Given the description of an element on the screen output the (x, y) to click on. 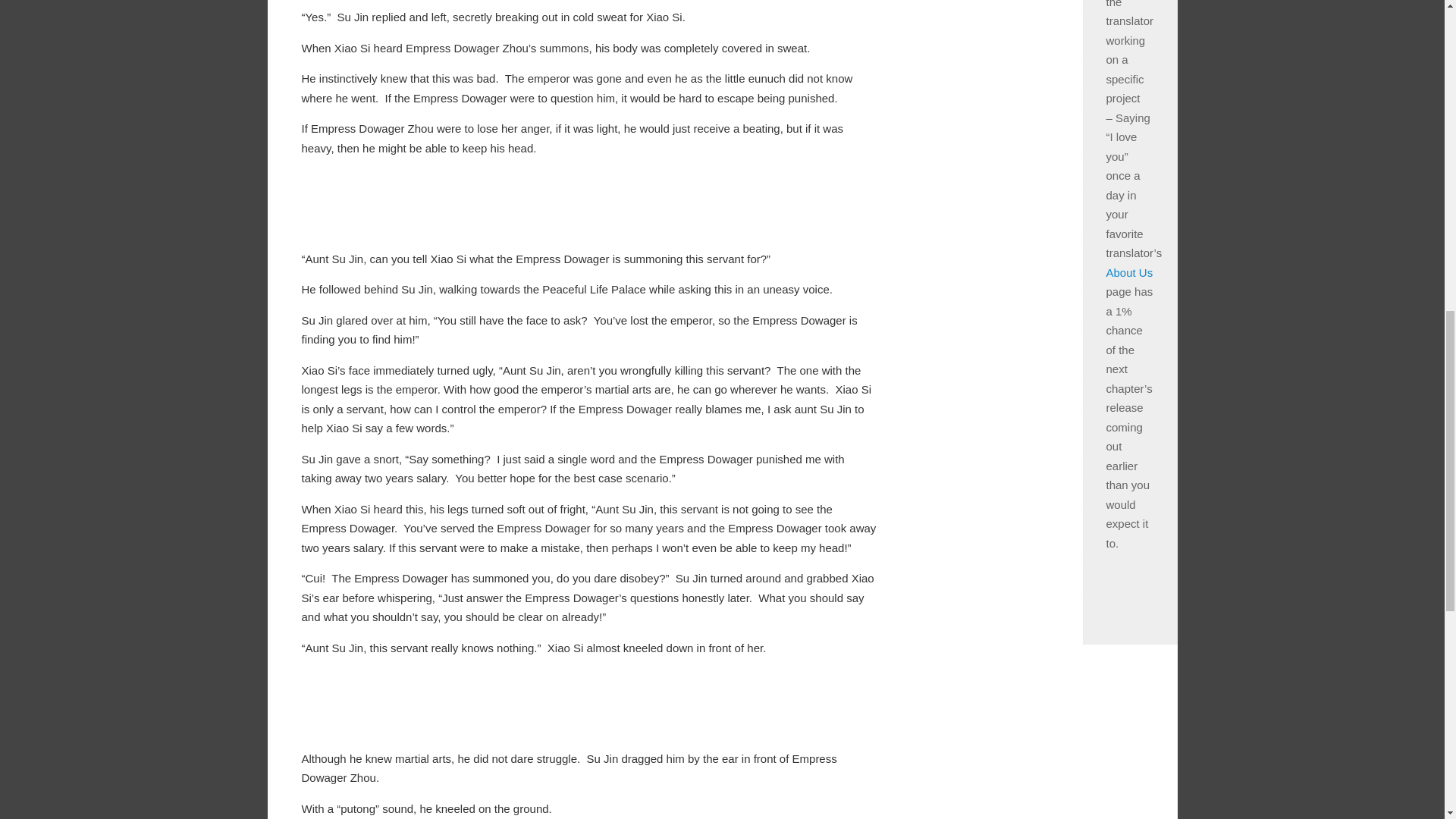
About Us (1129, 272)
